Given the description of an element on the screen output the (x, y) to click on. 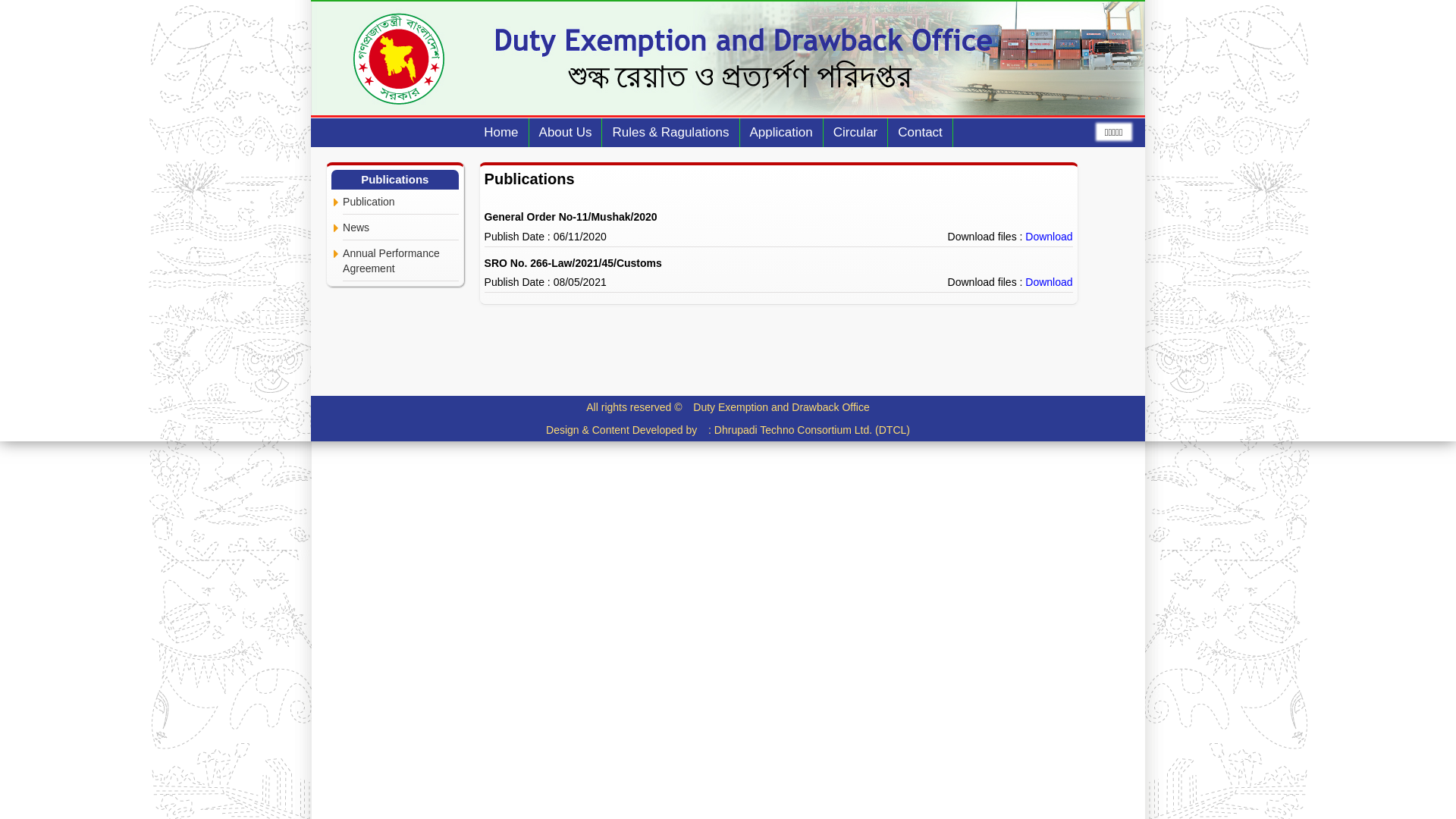
Contact Element type: text (920, 132)
Rules & Ragulations Element type: text (670, 132)
About Us Element type: text (565, 132)
News Element type: text (400, 227)
Duty Exemption and Drawback Office Element type: text (781, 407)
Download Element type: text (1048, 236)
Duty Exemption and Drawback Office Element type: hover (727, 58)
Application Element type: text (781, 132)
Dhrupadi Techno Consortium Ltd. (DTCL) Element type: text (812, 429)
Download Element type: text (1048, 282)
Publication Element type: text (400, 201)
Annual Performance Agreement Element type: text (400, 261)
Circular Element type: text (855, 132)
Home Element type: text (500, 132)
